Given the description of an element on the screen output the (x, y) to click on. 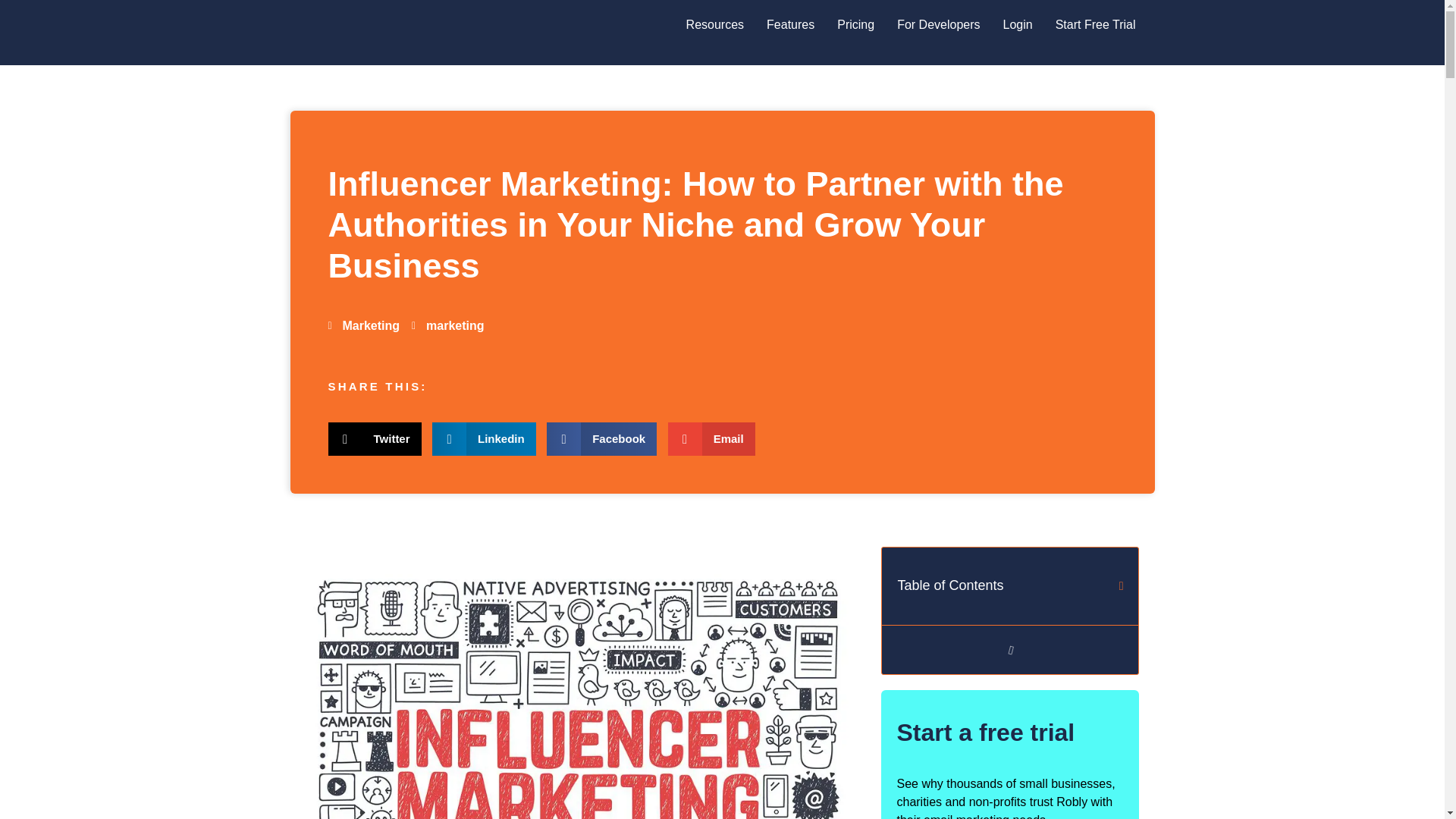
For Developers (938, 24)
Login (1017, 24)
Features (790, 24)
Facebook (602, 438)
Start Free Trial (1095, 24)
Marketing (371, 325)
Pricing (855, 24)
Resources (715, 24)
Linkedin (484, 438)
Email (710, 438)
